Given the description of an element on the screen output the (x, y) to click on. 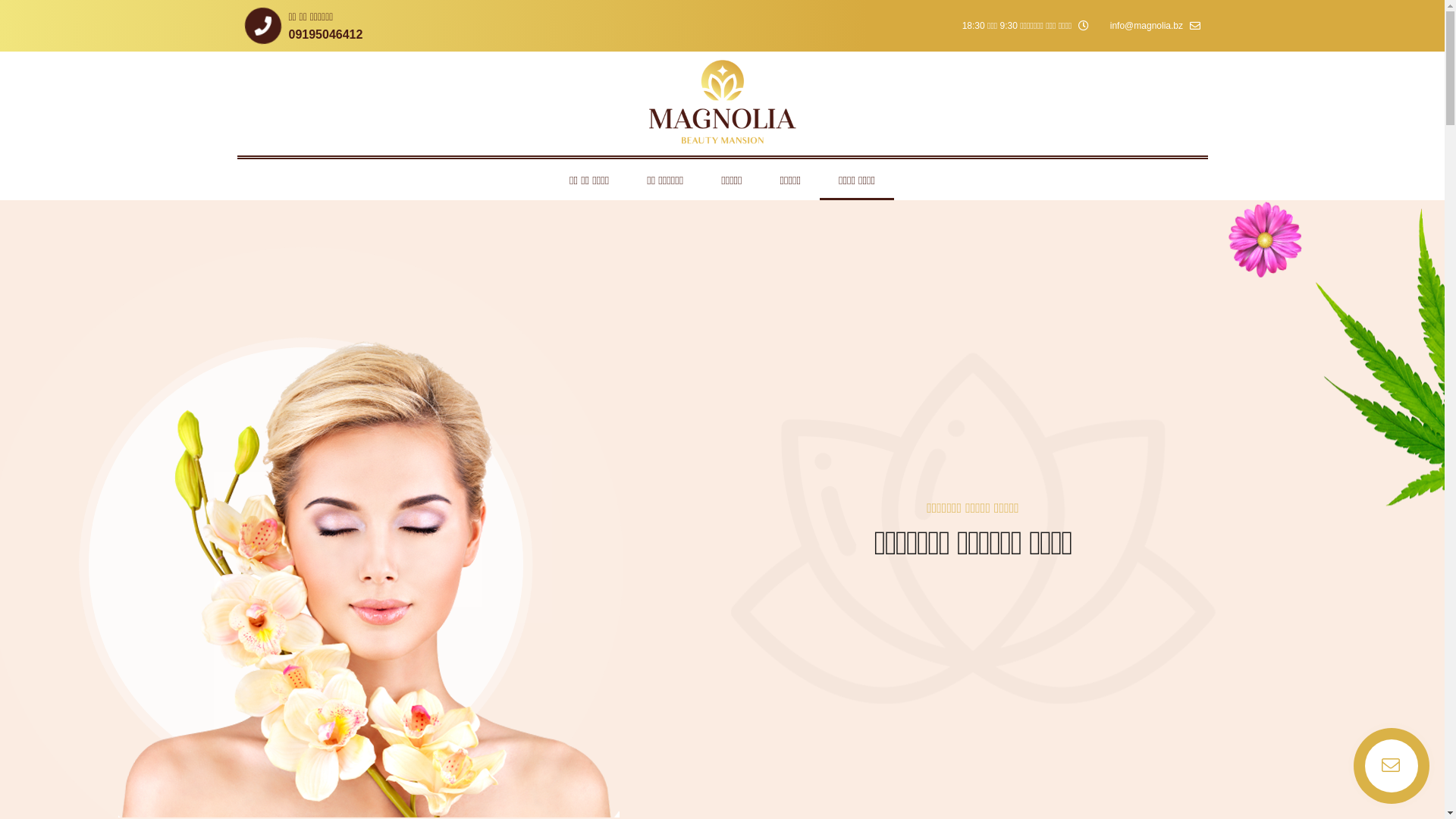
info@magnolia.bz Element type: text (1155, 25)
